Given the description of an element on the screen output the (x, y) to click on. 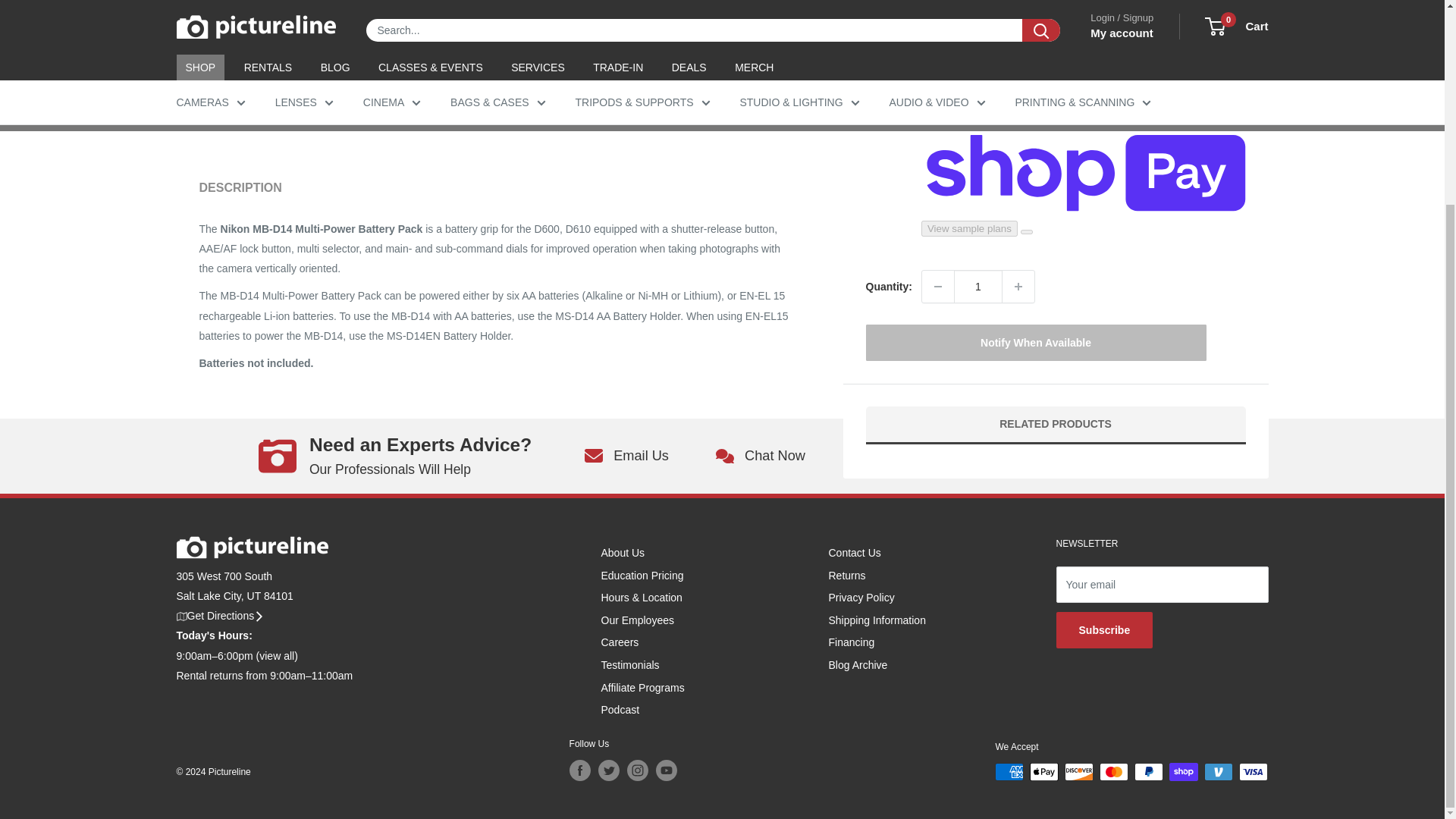
Decrease quantity by 1 (937, 286)
Increase quantity by 1 (1018, 286)
1 (978, 286)
